Given the description of an element on the screen output the (x, y) to click on. 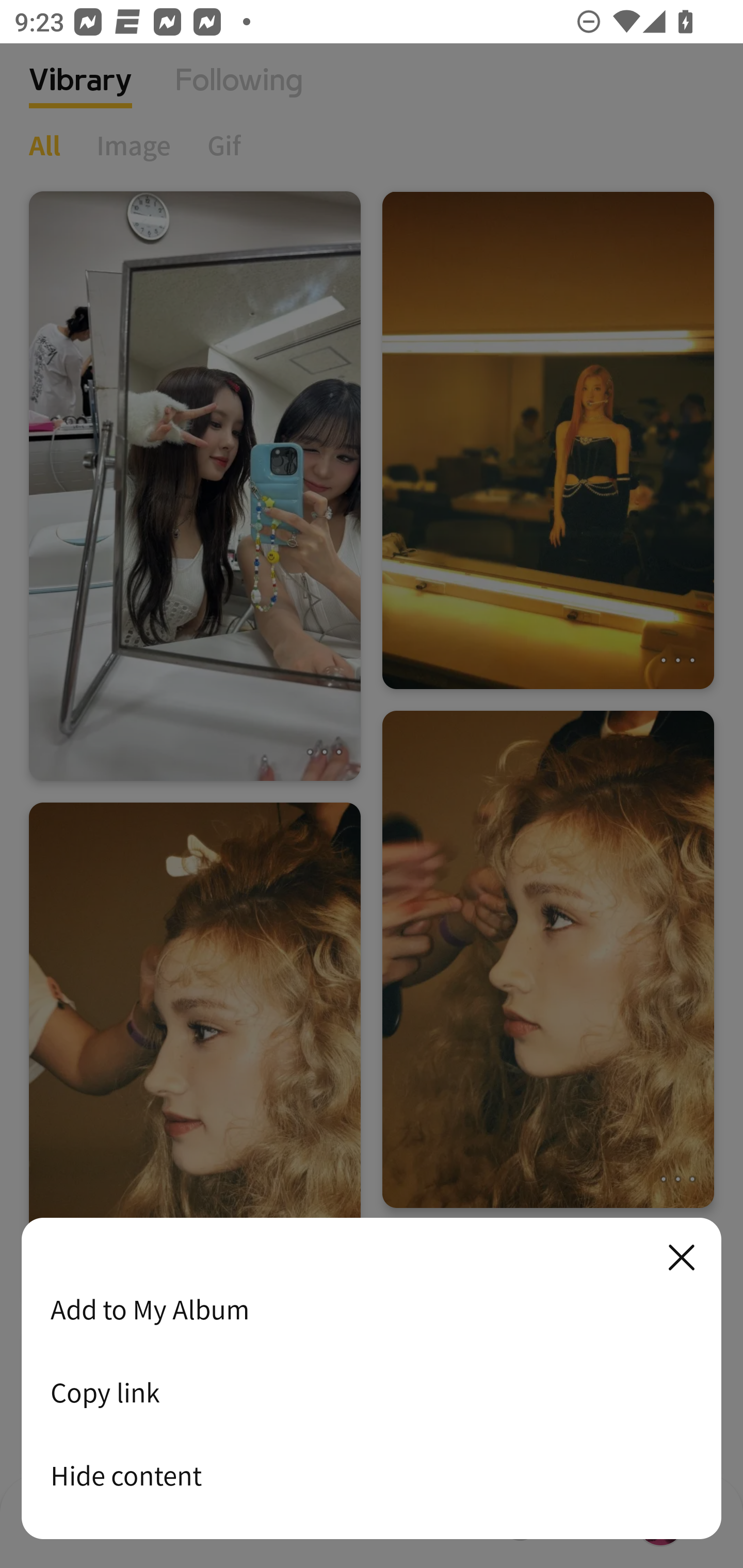
Add to My Album Copy link Hide content (371, 1378)
Add to My Album (371, 1308)
Copy link (371, 1391)
Hide content (371, 1474)
